Given the description of an element on the screen output the (x, y) to click on. 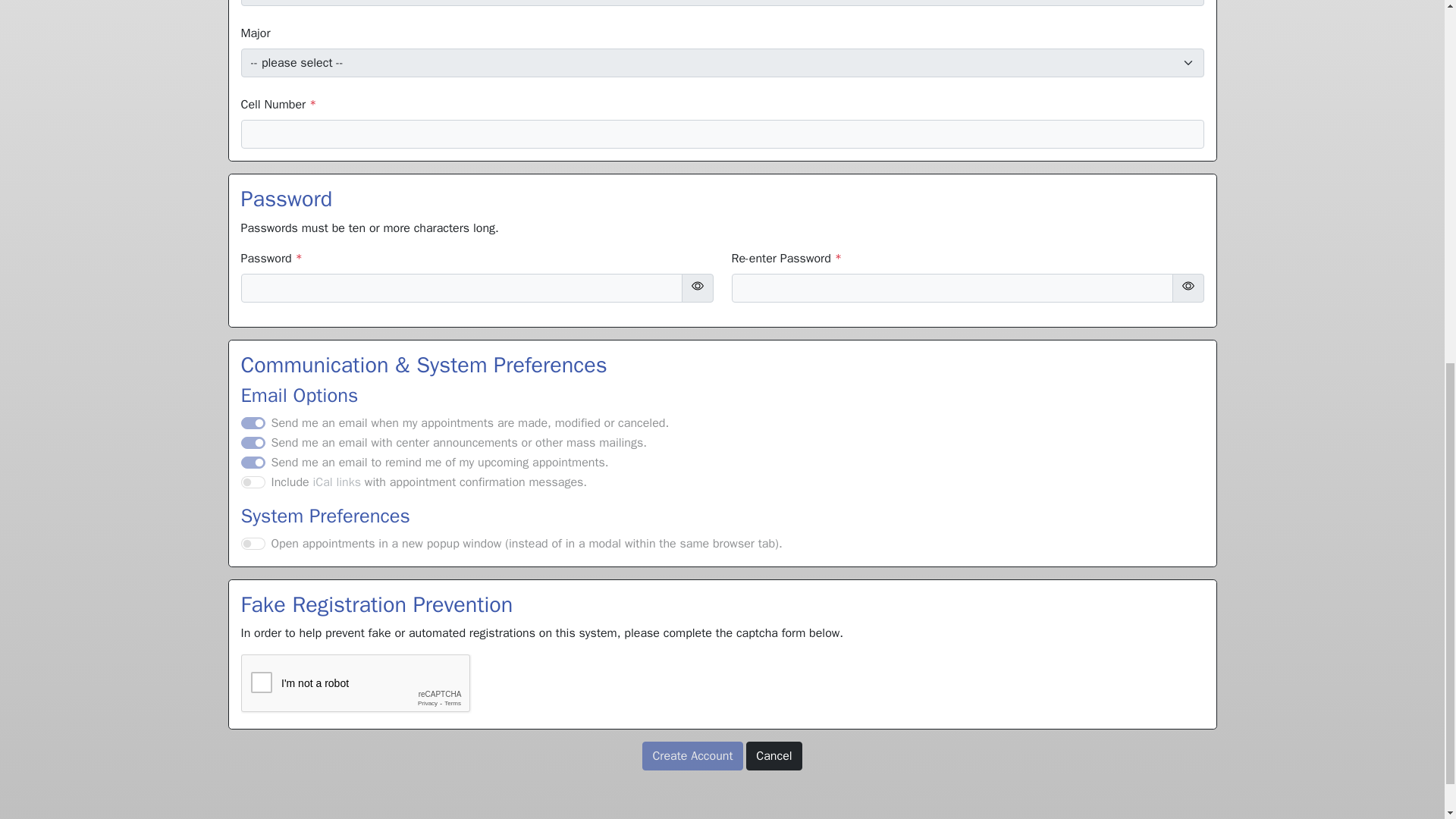
y (252, 442)
y (252, 481)
reCAPTCHA (356, 683)
Cancel (773, 756)
y (252, 462)
Create Account (692, 756)
y (252, 422)
1 (252, 543)
